Given the description of an element on the screen output the (x, y) to click on. 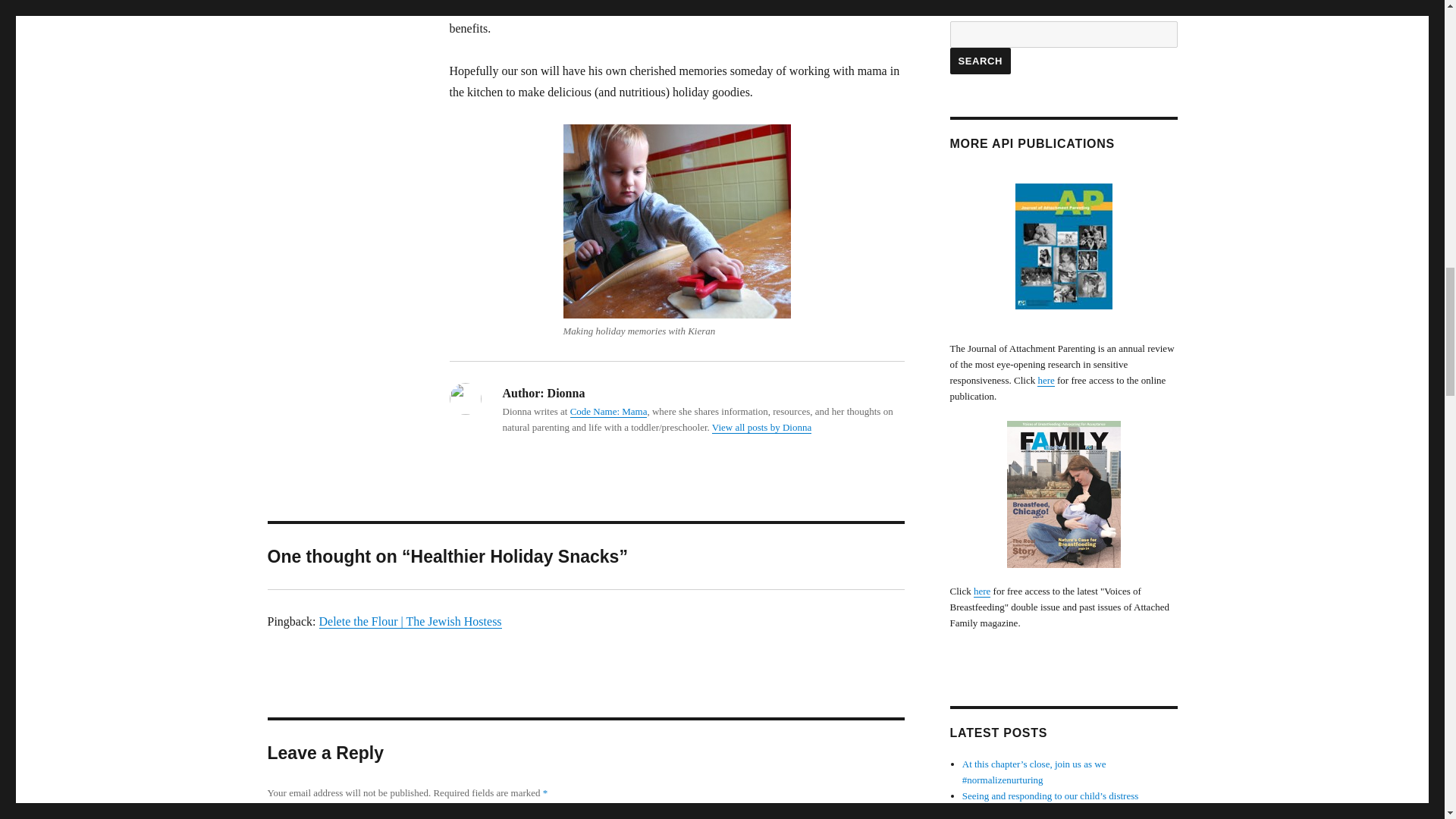
Code Name: Mama (608, 410)
Christmas Cookies (676, 221)
Search (979, 60)
I am still breastfeeding (605, 6)
View all posts by Dionna (760, 427)
